Given the description of an element on the screen output the (x, y) to click on. 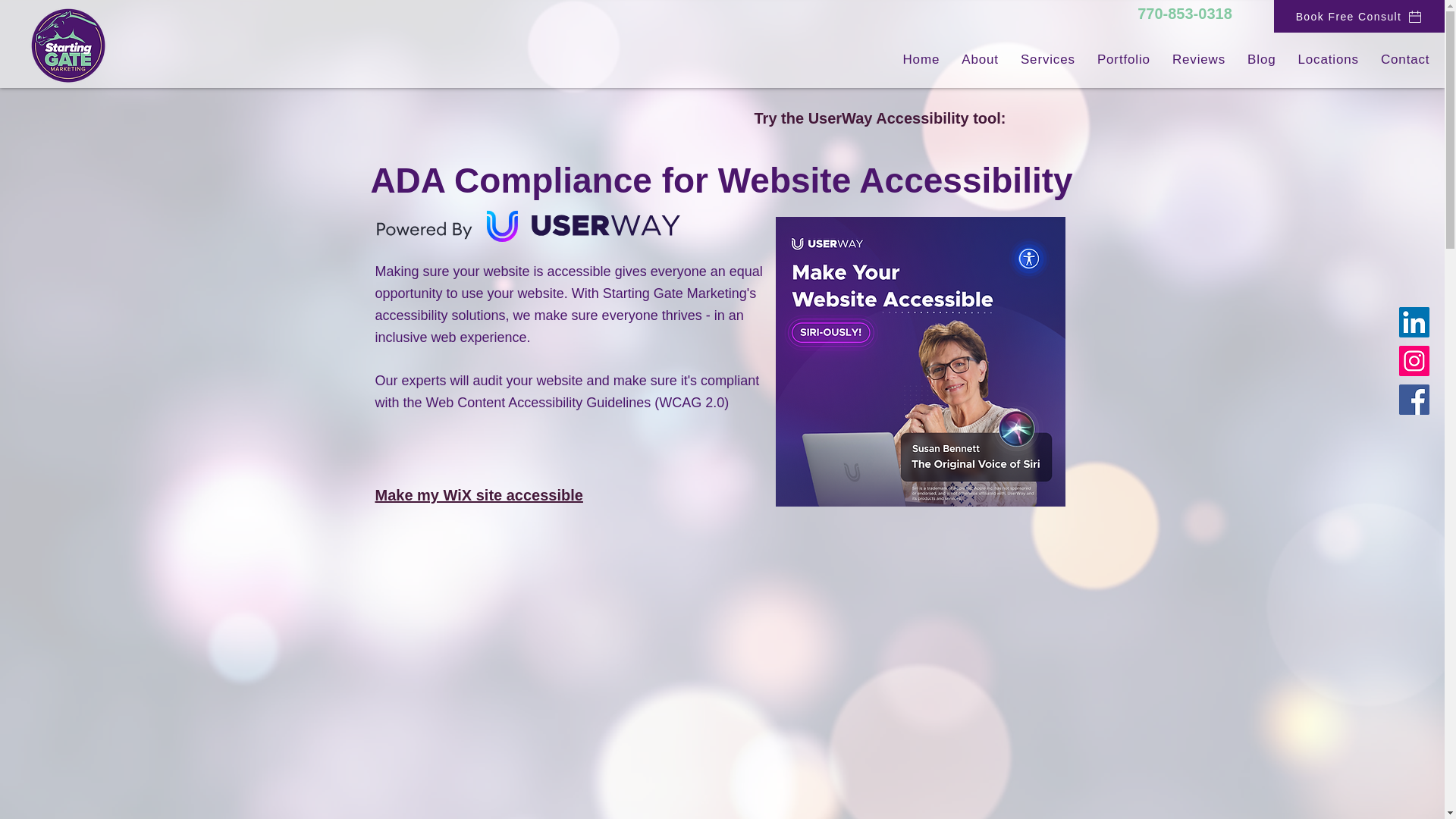
Portfolio (1123, 60)
Services (1047, 60)
Home (921, 60)
Blog (1261, 60)
770-853-0318 (1184, 13)
About (980, 60)
Reviews (1197, 60)
